Given the description of an element on the screen output the (x, y) to click on. 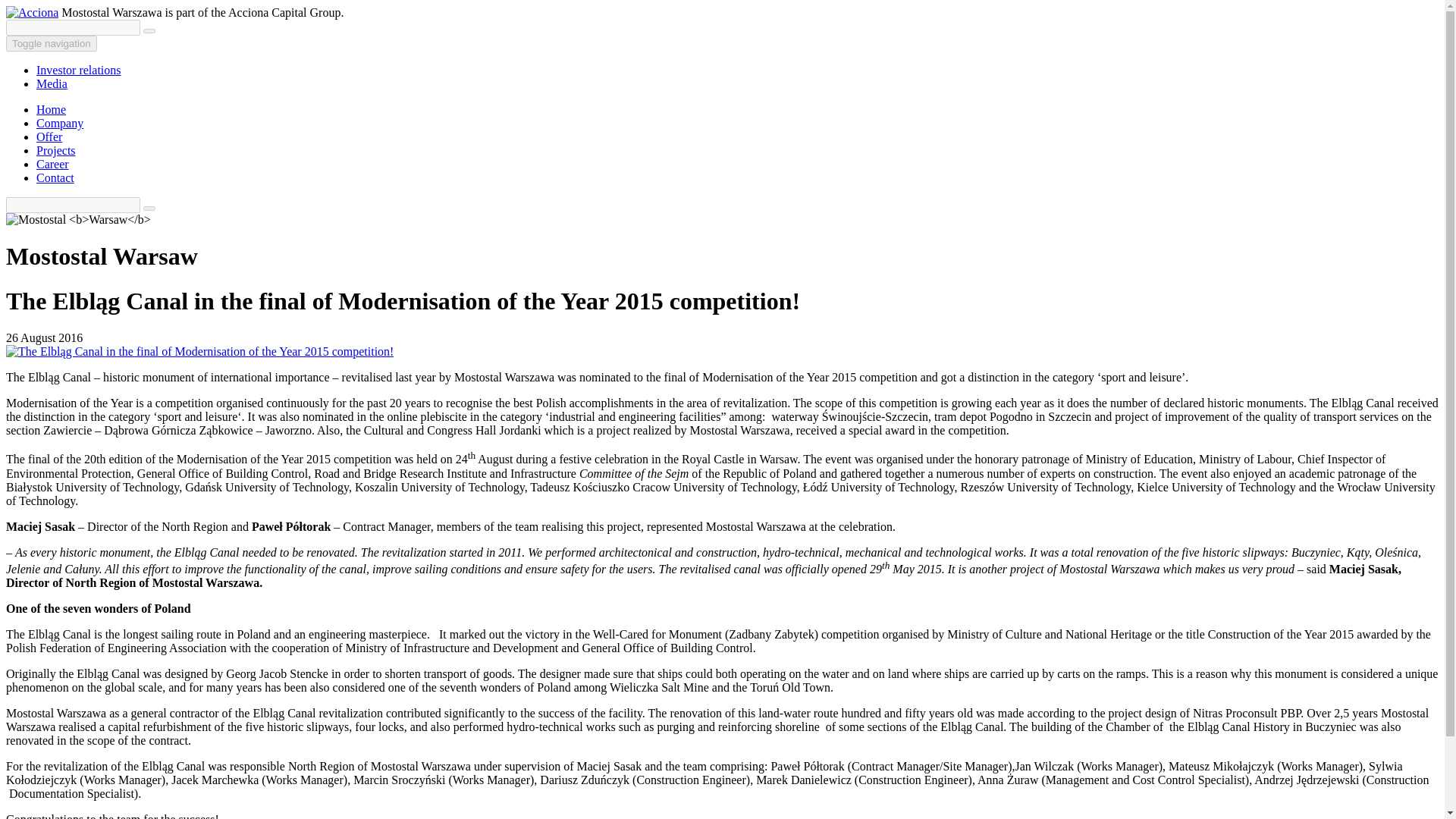
Investor relations (78, 69)
Home (50, 109)
Contact (55, 177)
Toggle navigation (51, 43)
Offer (49, 136)
Company (59, 123)
Media (51, 83)
Career (52, 164)
Projects (55, 150)
